Given the description of an element on the screen output the (x, y) to click on. 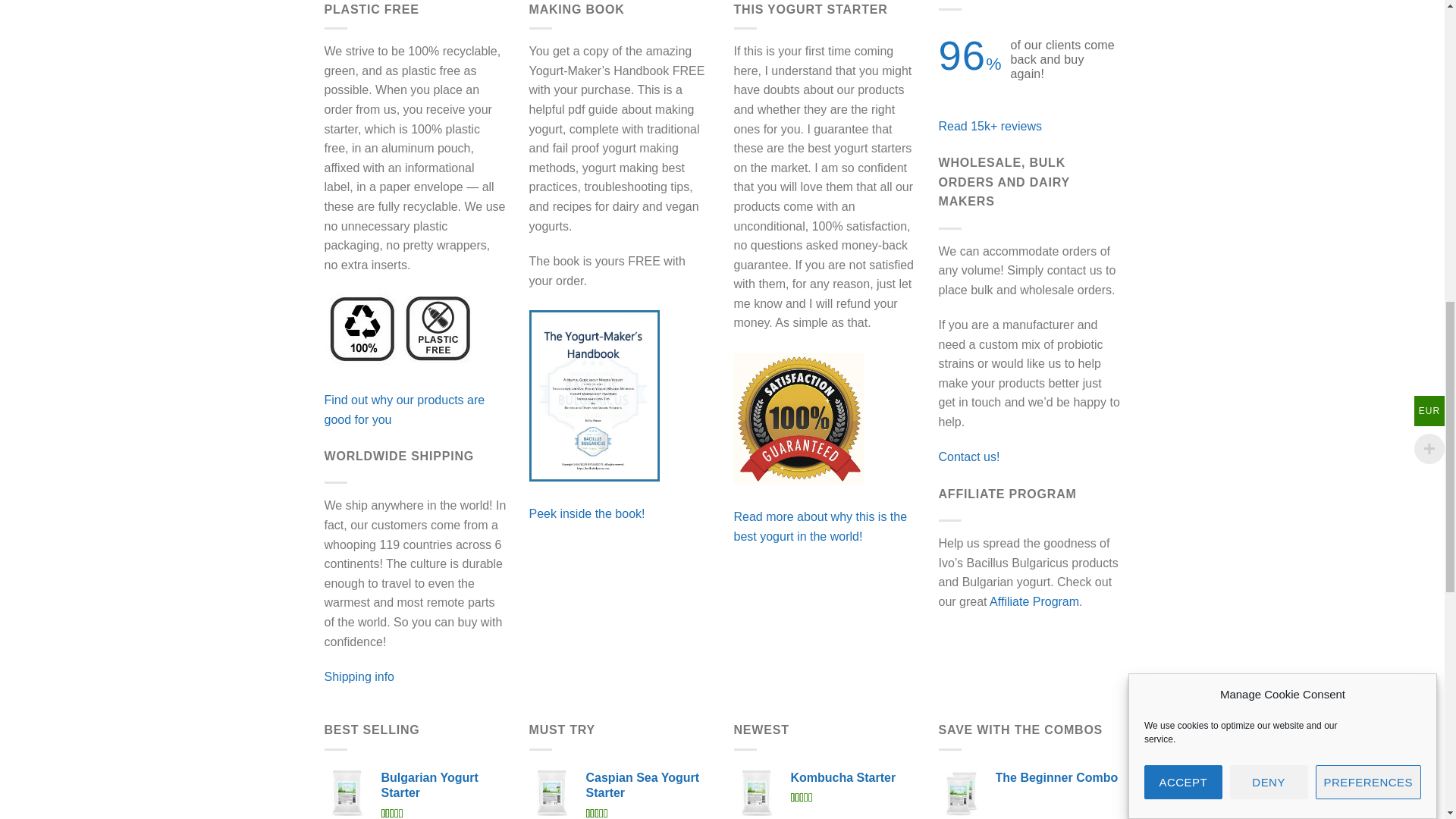
ACCEPT (1183, 267)
Why get Bacillus Bulgaricus starters (820, 526)
DENY (1268, 236)
Caspian Sea Yogurt Starter (647, 786)
Bulgarian Yogurt Starter (442, 786)
PREFERENCES (1368, 175)
